Given the description of an element on the screen output the (x, y) to click on. 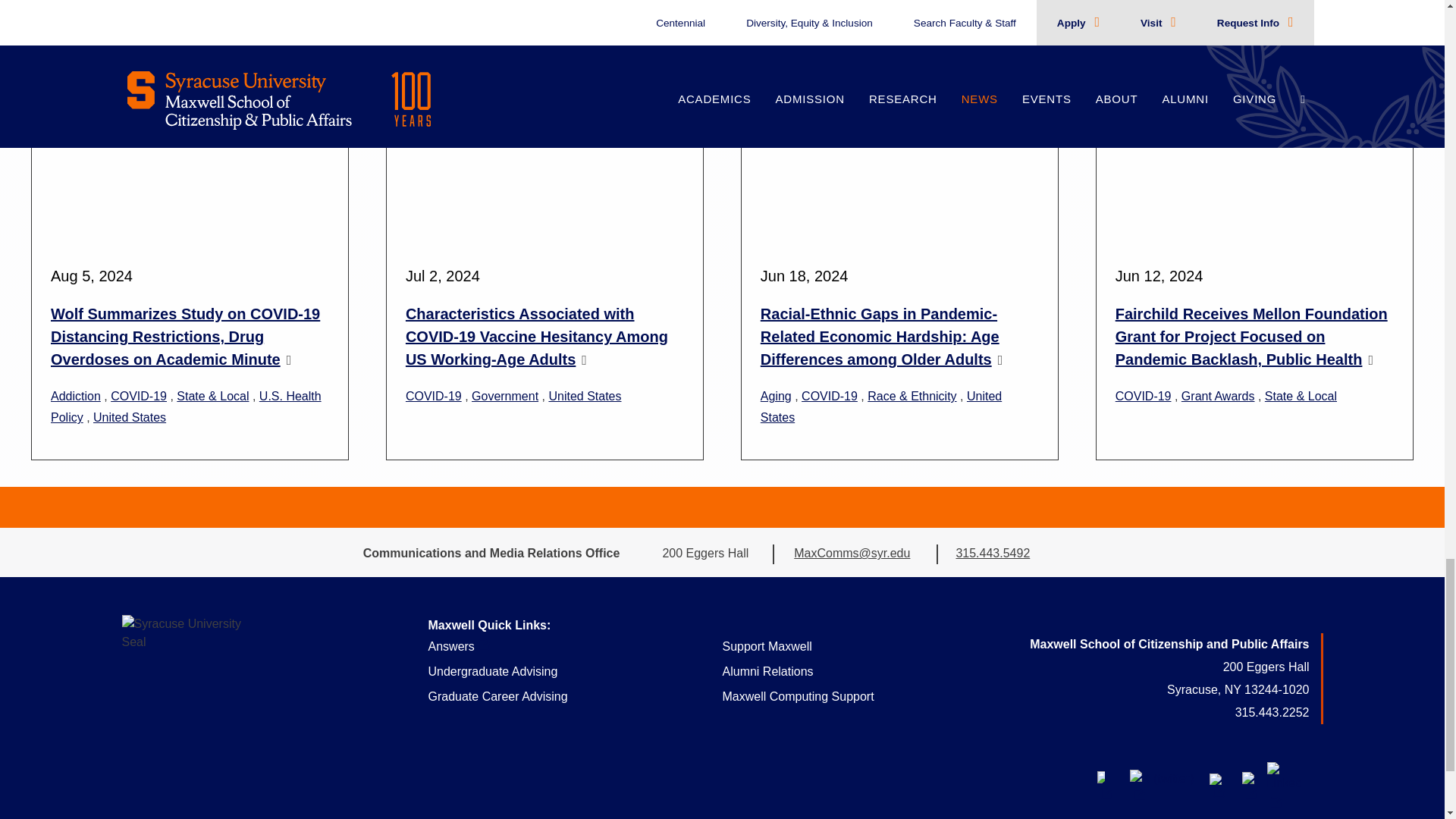
youtube (1216, 778)
su-seal (183, 677)
linkedin (1283, 778)
